Given the description of an element on the screen output the (x, y) to click on. 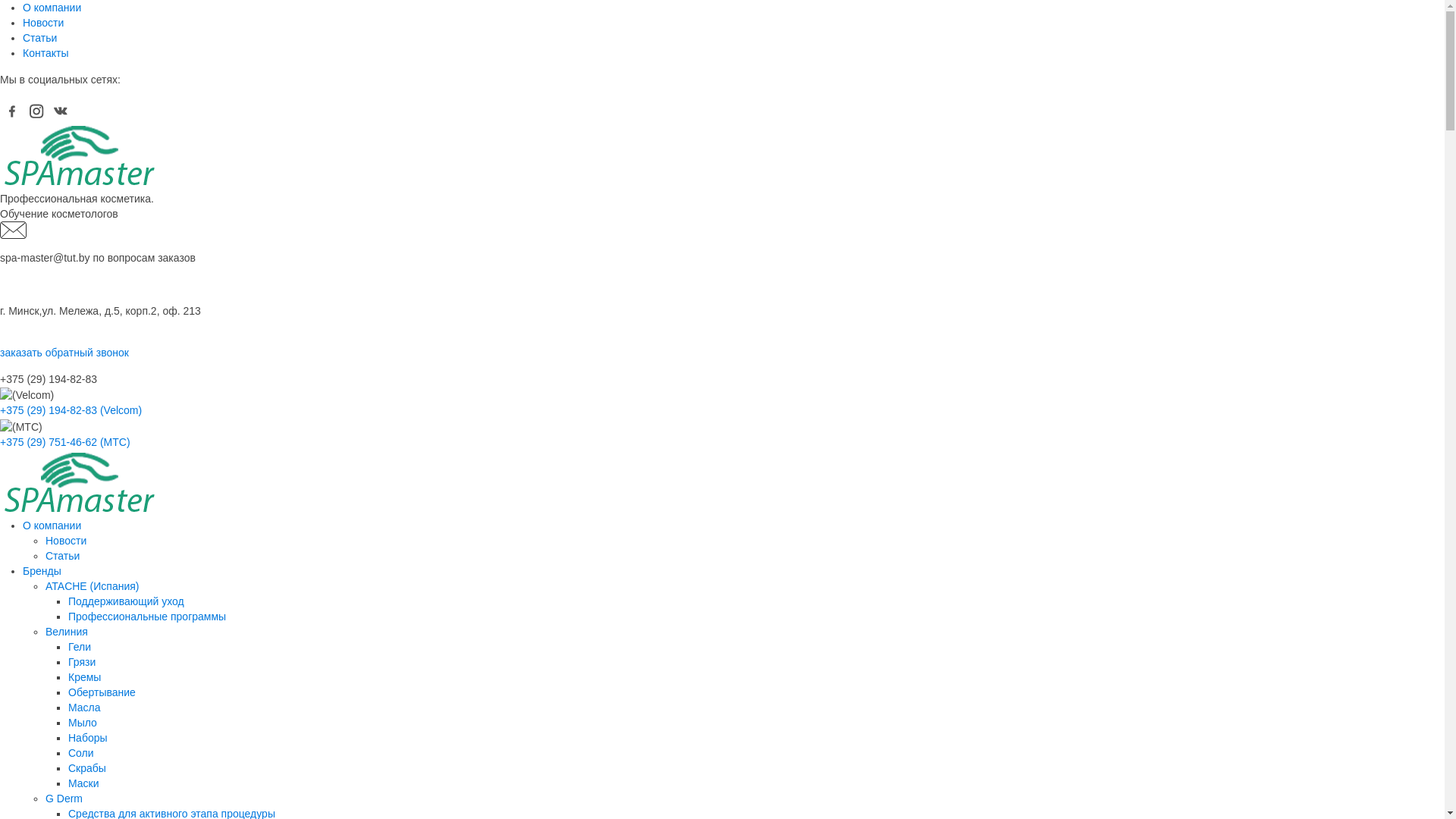
G Derm Element type: text (63, 798)
+375 (29) 194-82-83 (Velcom) Element type: text (70, 410)
